Given the description of an element on the screen output the (x, y) to click on. 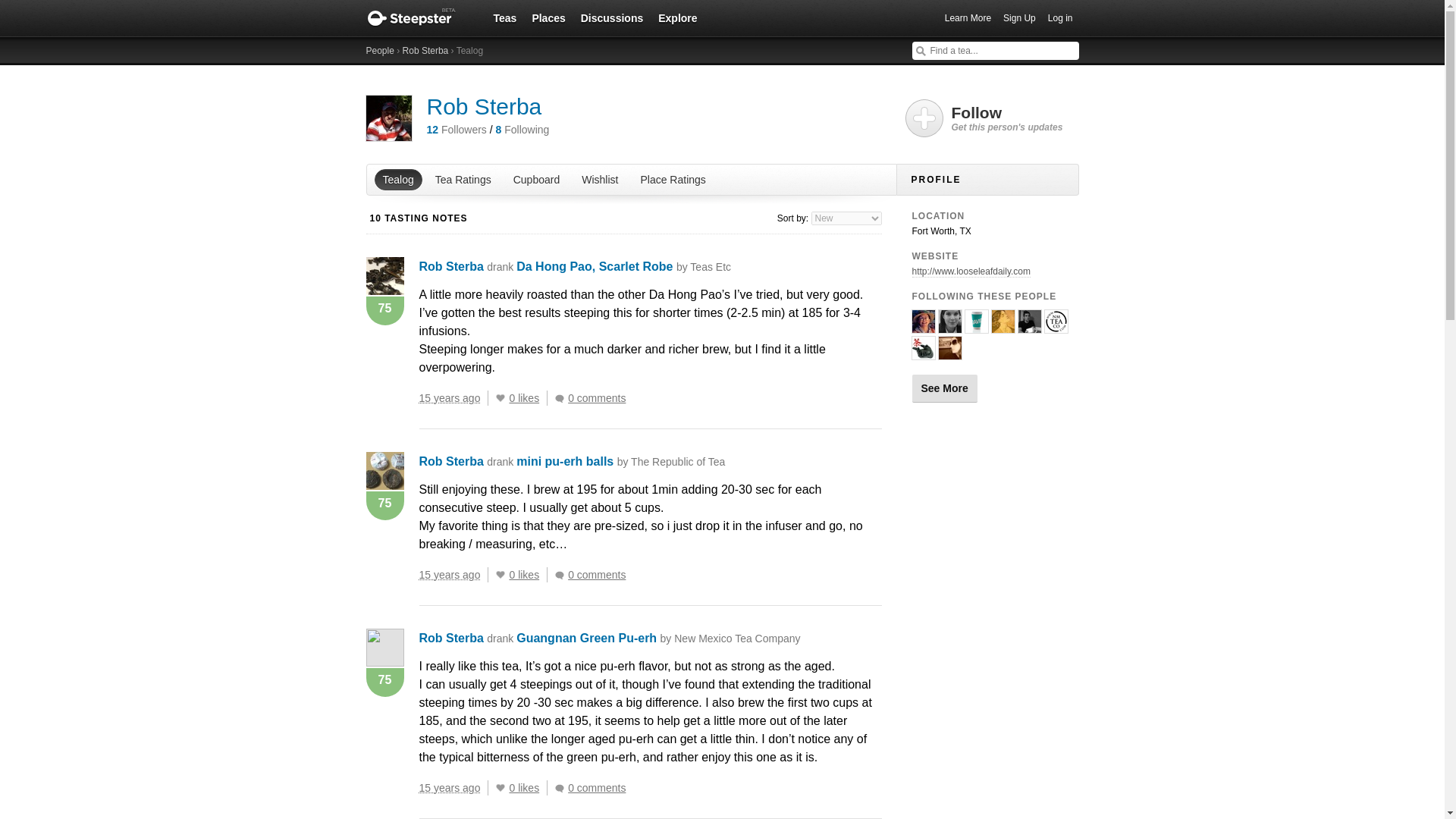
Learn More (968, 18)
Like This (500, 787)
0 likes (527, 574)
0 likes (527, 397)
Tealog (398, 179)
Places (547, 17)
Rob Sterba (425, 50)
2009-06-09T13:23:35Z (449, 398)
mini pu-erh balls by The Republic of Tea (620, 461)
Rob Sterba (451, 461)
Cupboard (536, 179)
Rob Sterba (483, 106)
15 years ago (453, 397)
People (379, 50)
15 years ago (453, 574)
